Given the description of an element on the screen output the (x, y) to click on. 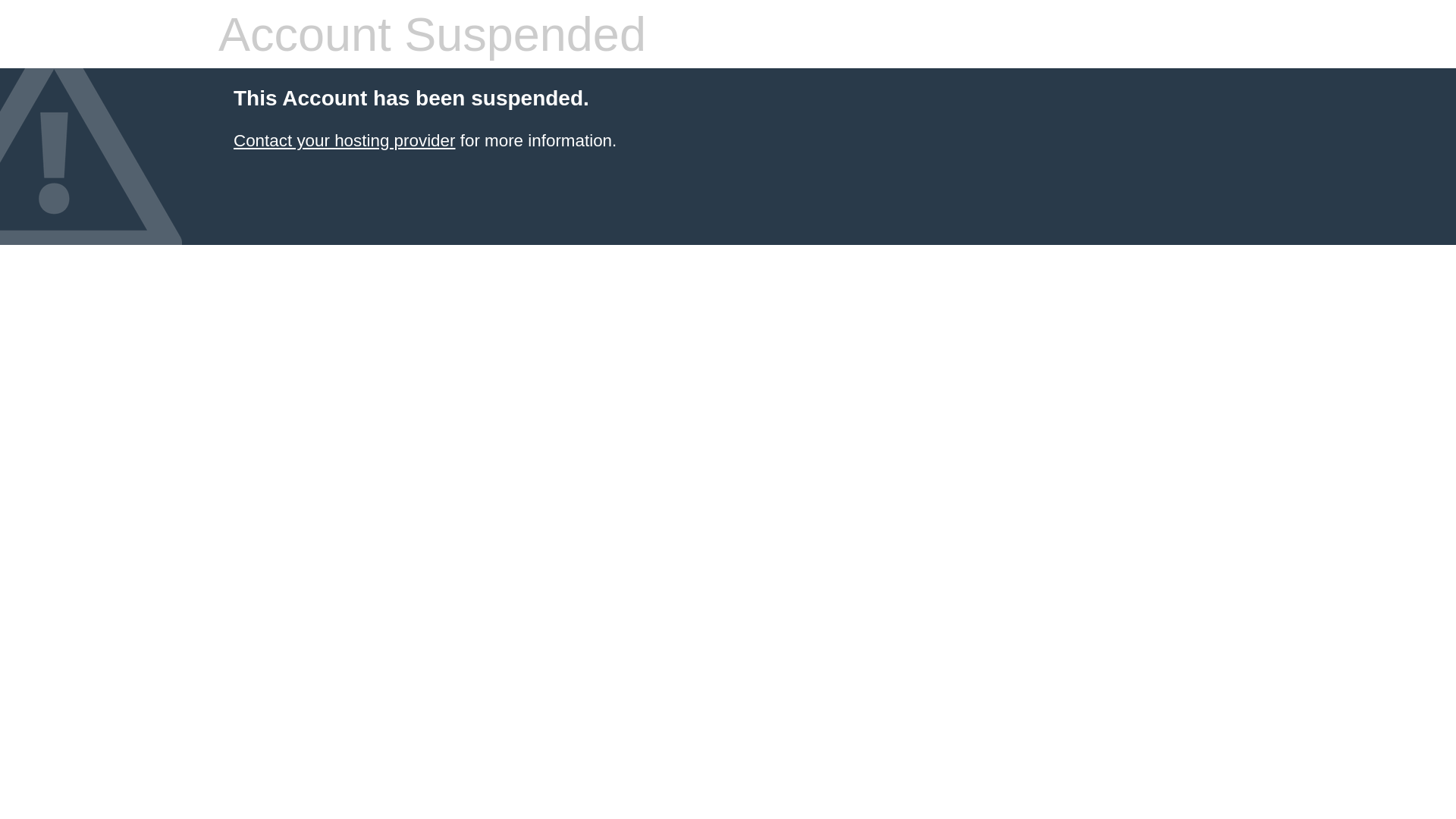
Contact your hosting provider Element type: text (344, 140)
